Given the description of an element on the screen output the (x, y) to click on. 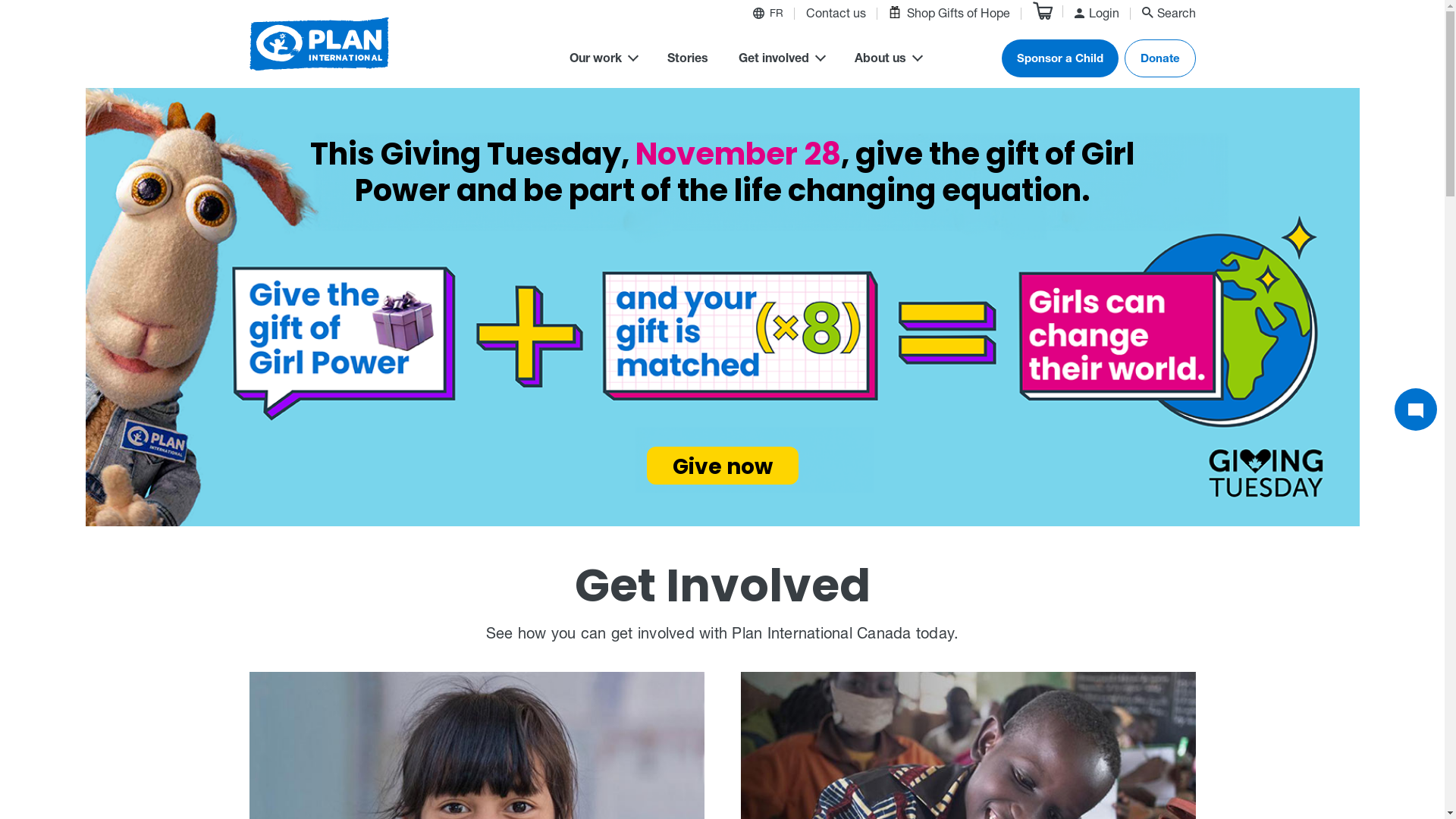
About us Element type: text (886, 60)
Stories Element type: text (687, 60)
FR Element type: text (775, 15)
Donate Element type: text (1159, 58)
Our work Element type: text (602, 60)
Contact us Element type: text (835, 15)
Give now Element type: text (721, 464)
Get involved Element type: text (781, 60)
Shop Gifts of Hope Element type: text (949, 13)
Sponsor a Child Element type: text (1059, 58)
